Given the description of an element on the screen output the (x, y) to click on. 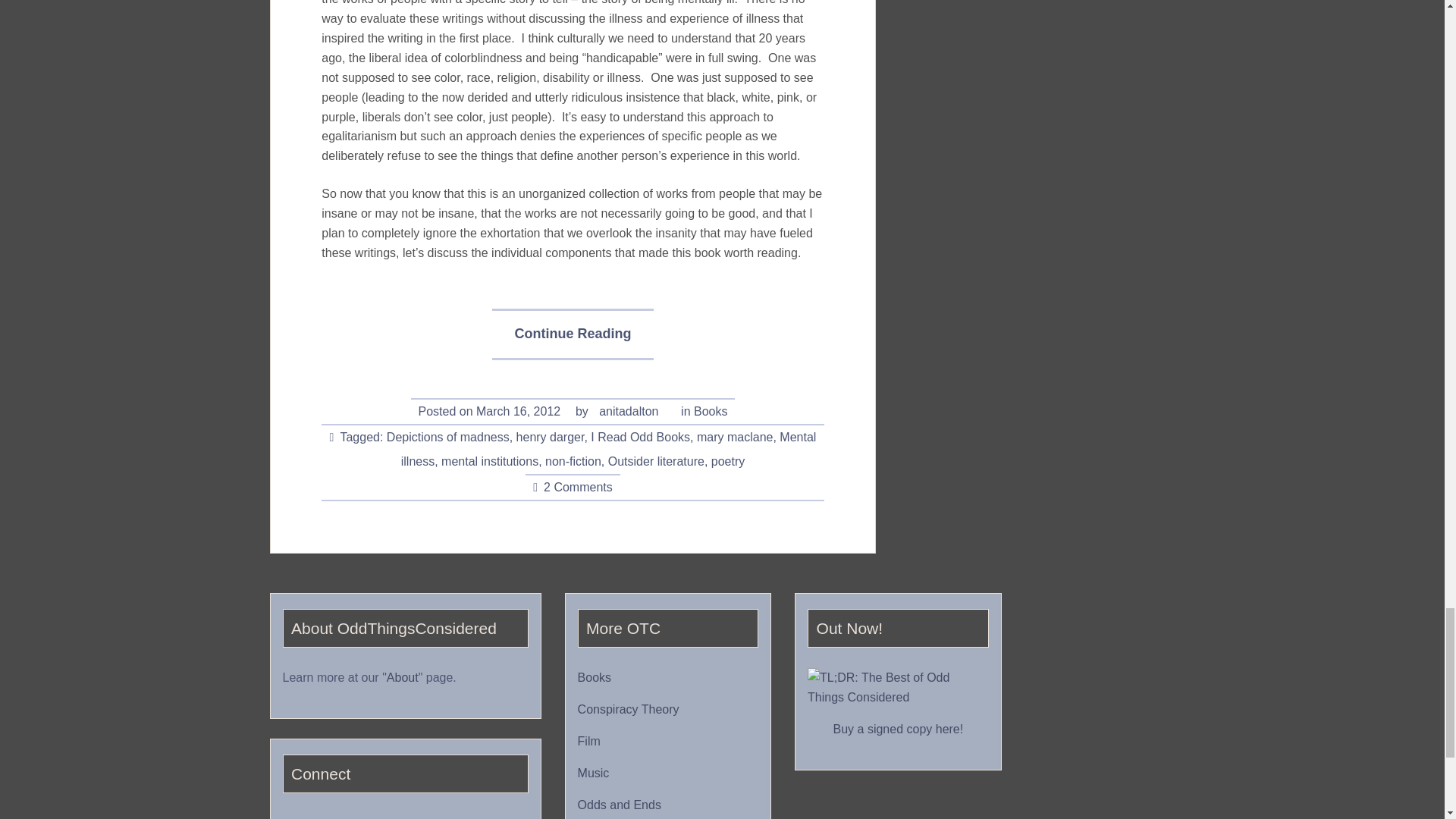
Depictions of madness (448, 437)
henry darger (550, 437)
poetry (727, 461)
anitadalton (628, 411)
non-fiction (572, 461)
2 Comments (577, 487)
mental institutions (489, 461)
Books (710, 411)
March 16, 2012 (518, 411)
Outsider literature (656, 461)
I Read Odd Books (640, 437)
mary maclane (735, 437)
Mental illness (608, 449)
